Given the description of an element on the screen output the (x, y) to click on. 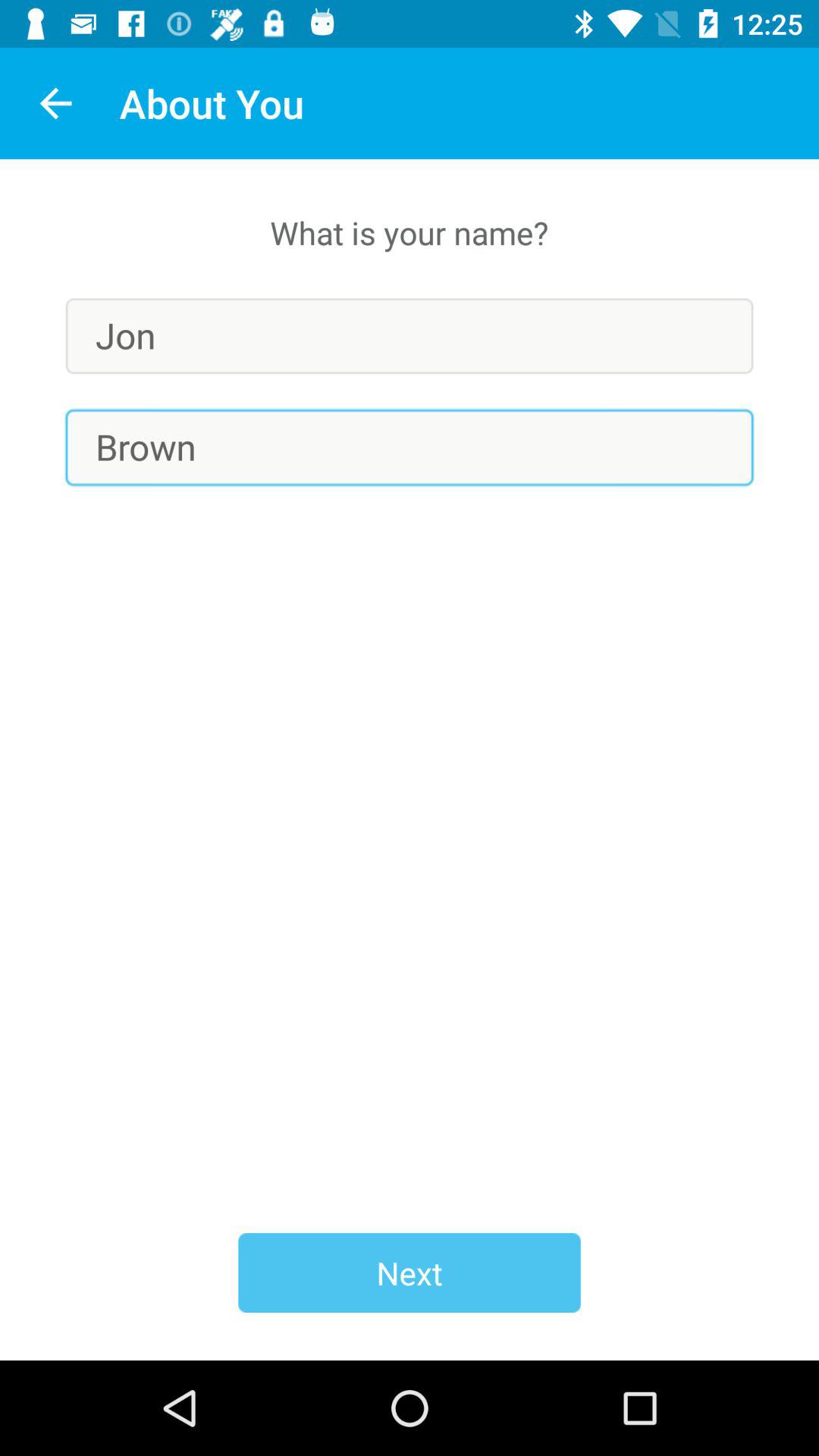
jump until the brown icon (409, 447)
